Given the description of an element on the screen output the (x, y) to click on. 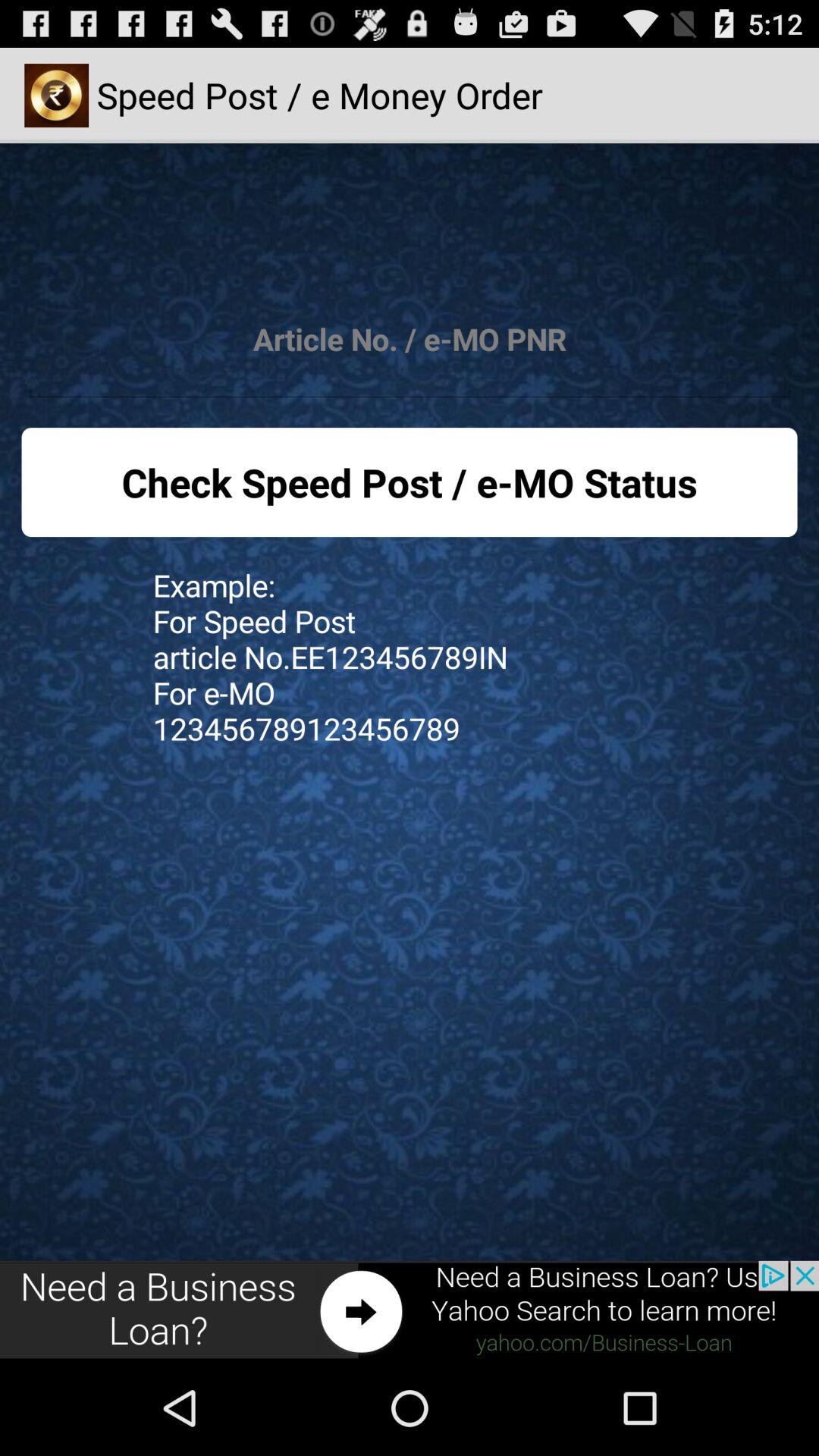
link to advertisement link (409, 1310)
